Given the description of an element on the screen output the (x, y) to click on. 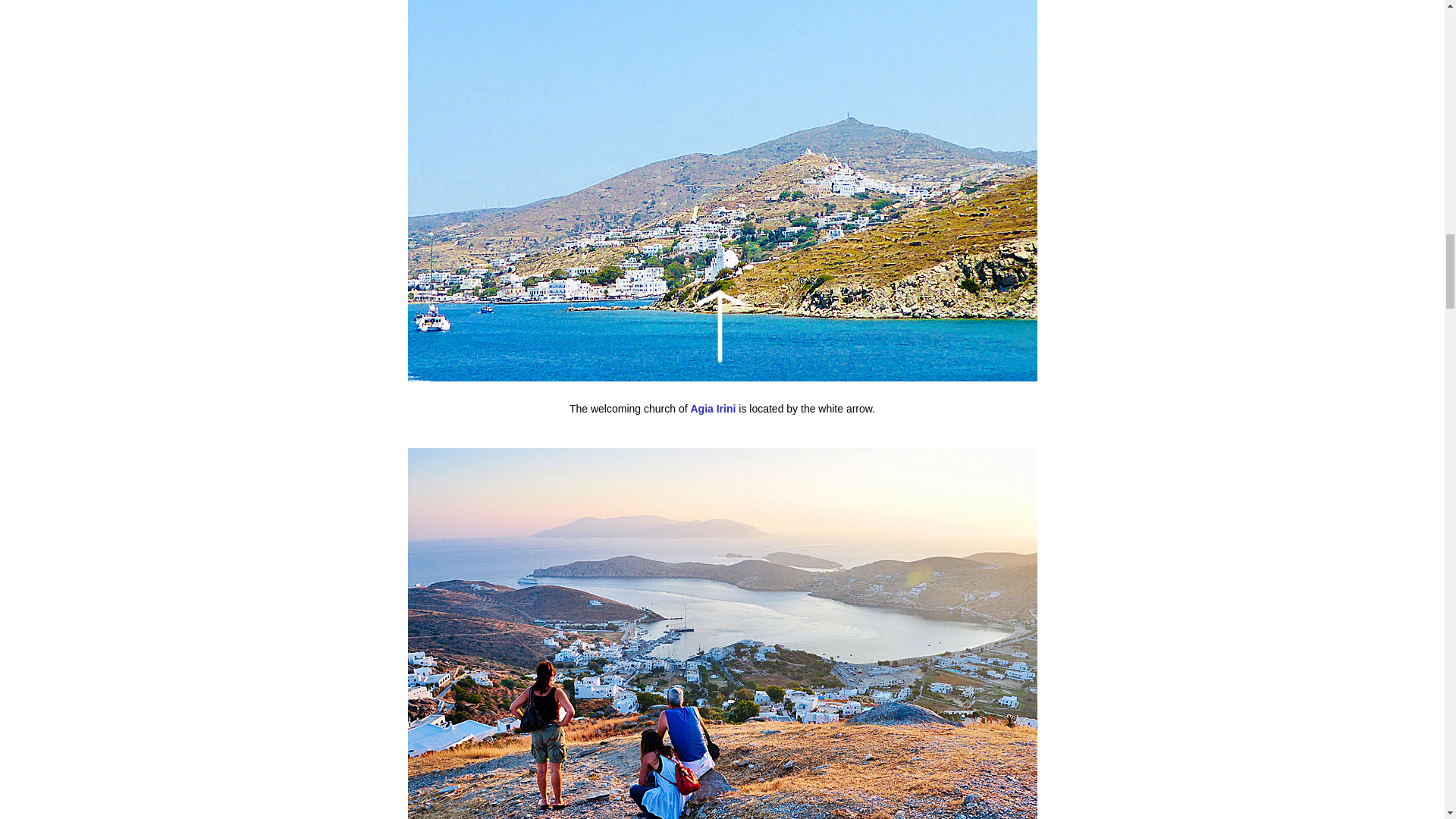
Agia Irini (714, 408)
